Given the description of an element on the screen output the (x, y) to click on. 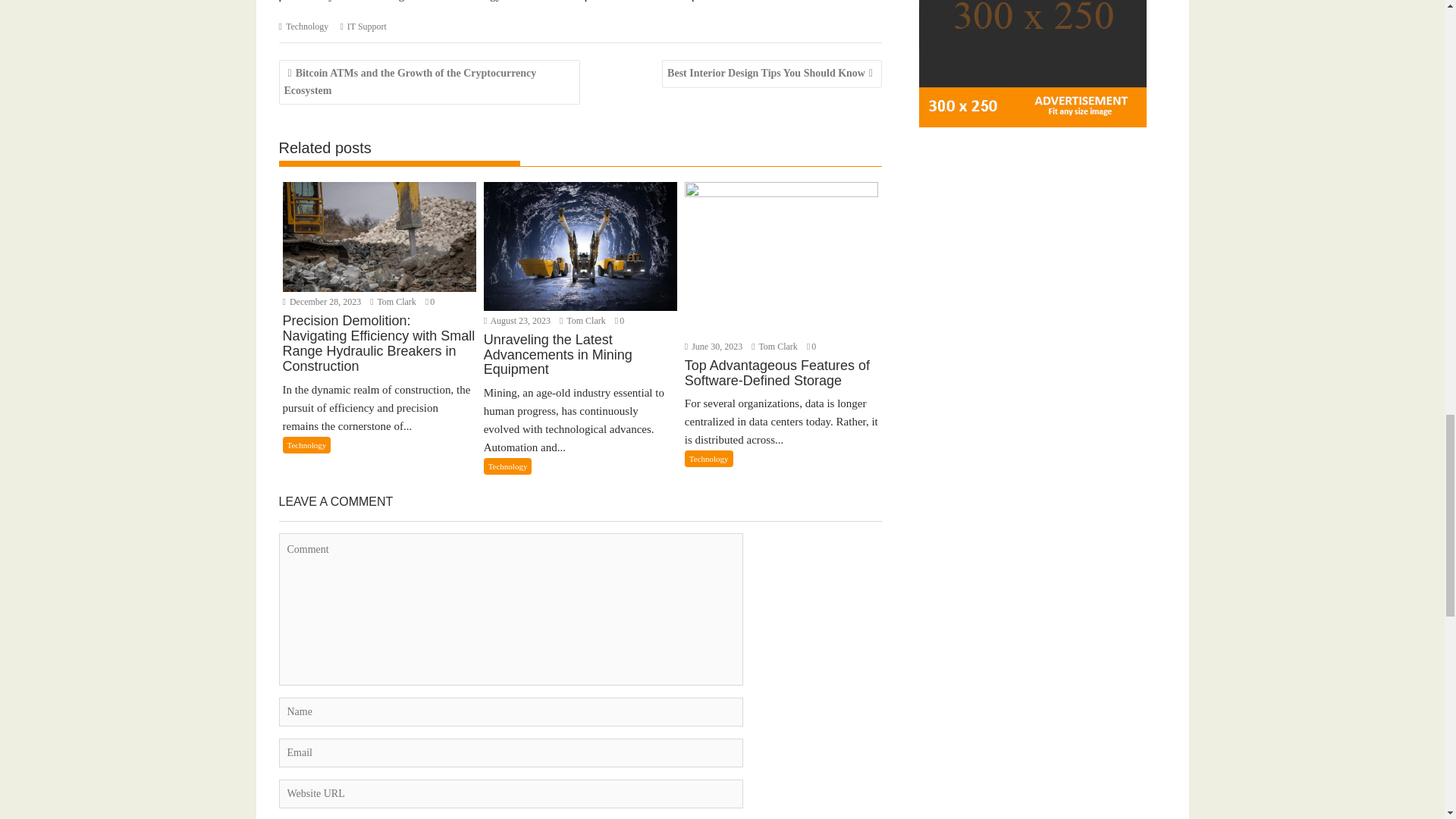
Tom Clark (394, 301)
Tom Clark (775, 346)
Tom Clark (583, 320)
